Given the description of an element on the screen output the (x, y) to click on. 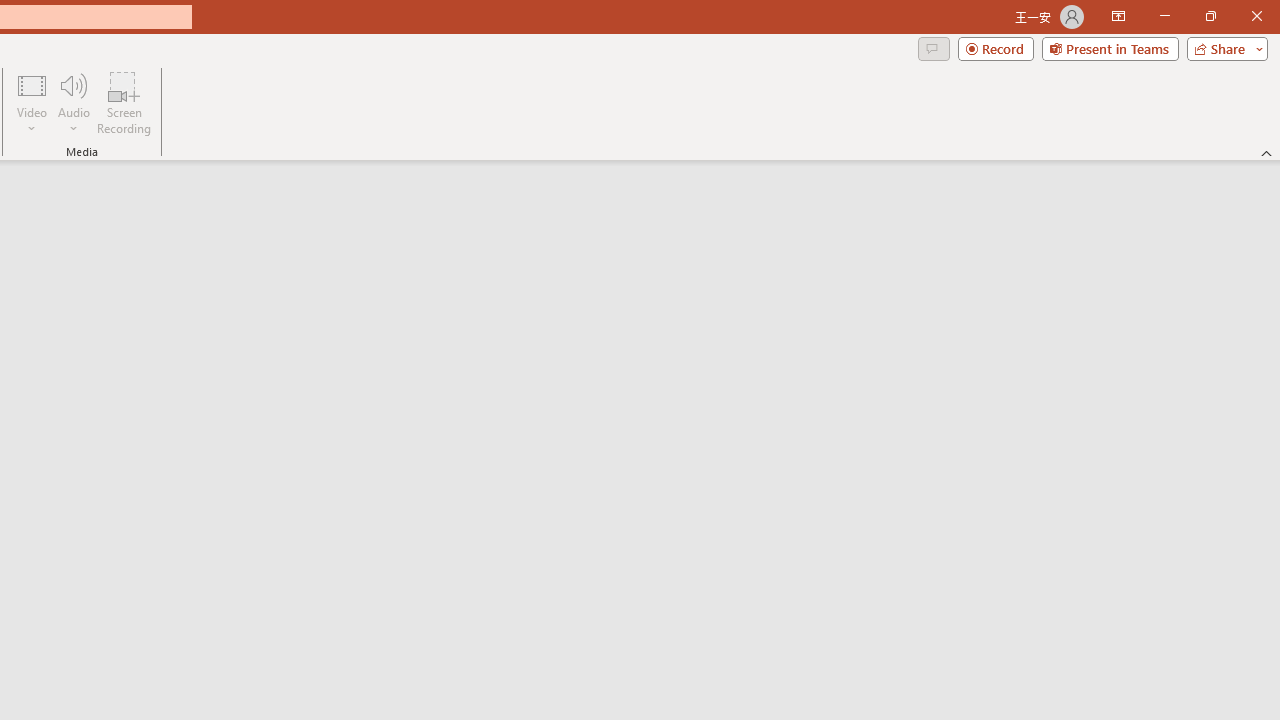
Screen Recording... (123, 102)
Video (31, 102)
